Given the description of an element on the screen output the (x, y) to click on. 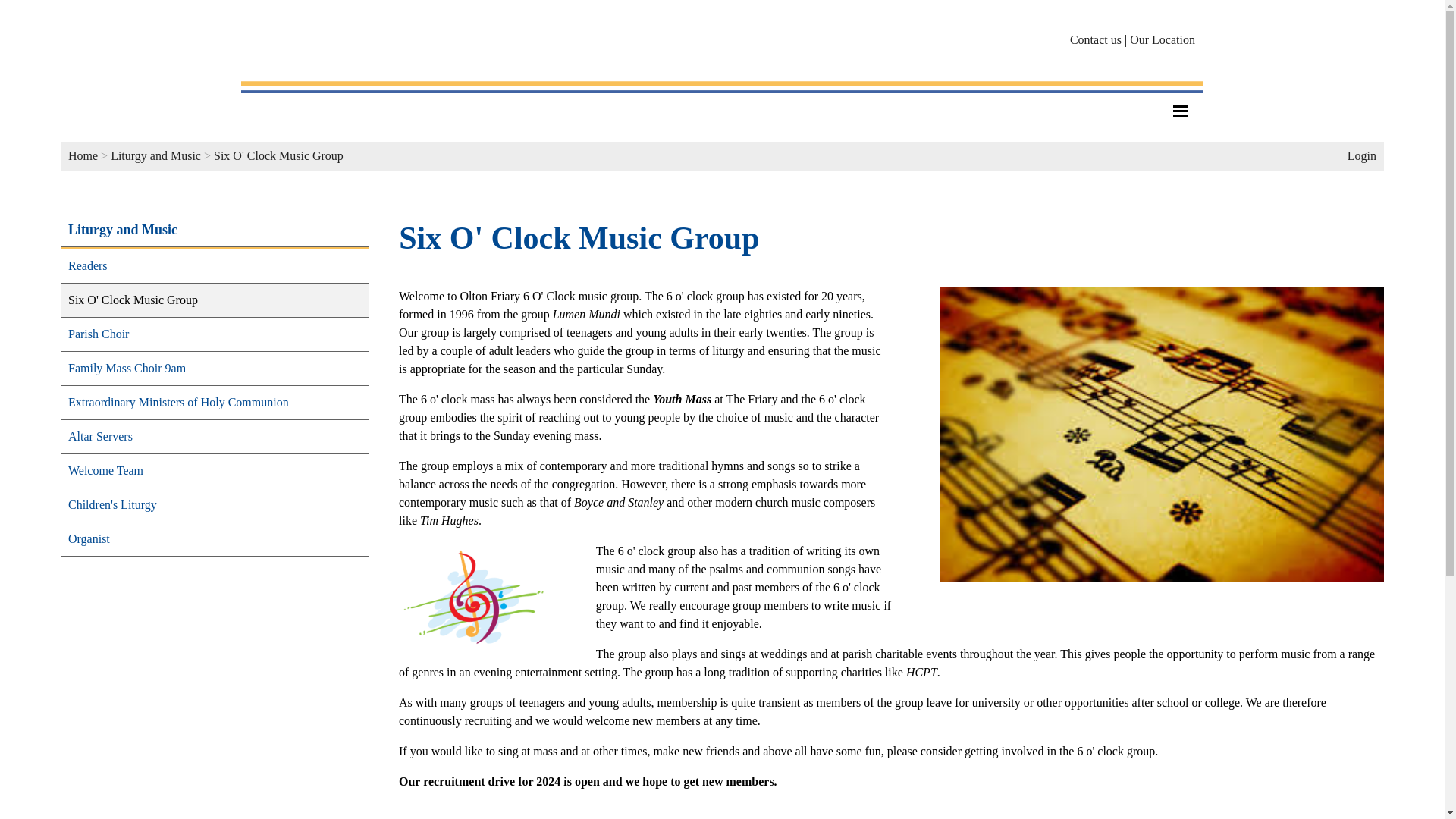
Our Location (1162, 39)
Contact us (1095, 39)
